Given the description of an element on the screen output the (x, y) to click on. 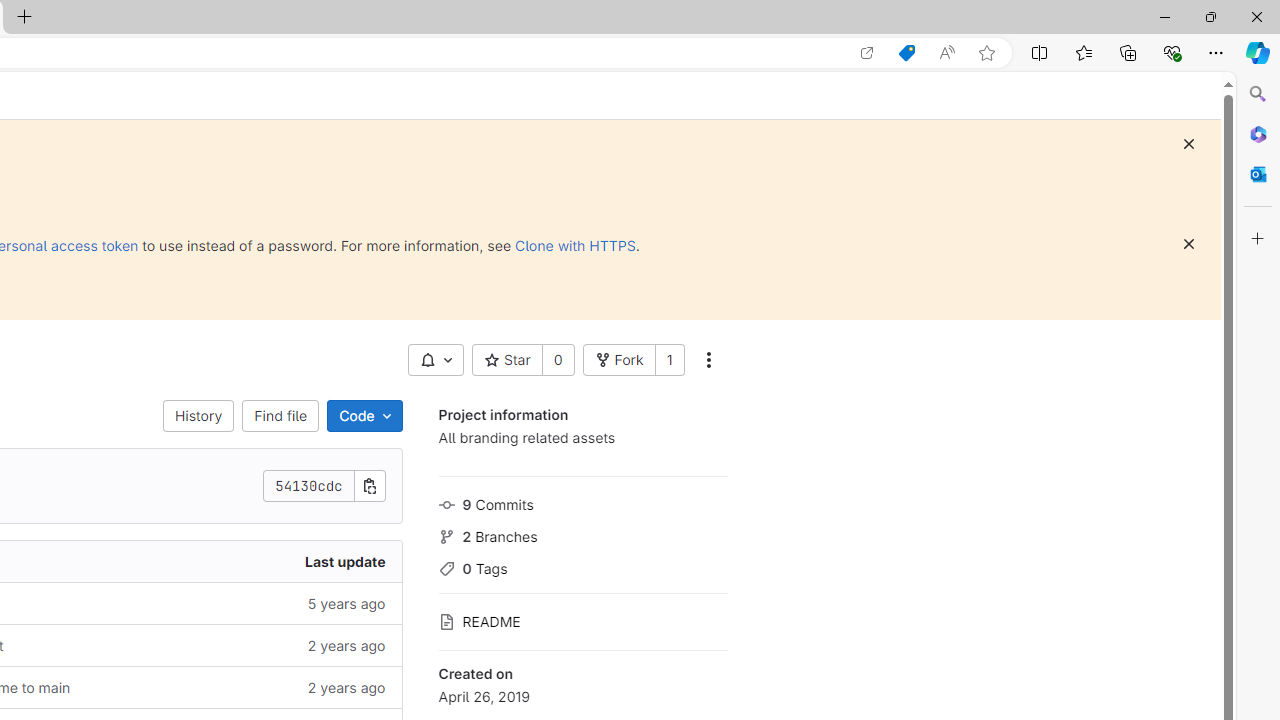
Last update (247, 561)
AutomationID: __BVID__301__BV_toggle_ (435, 359)
2 Branches (582, 534)
 Star (506, 359)
Copy commit SHA (369, 485)
Find file (280, 416)
Clone with HTTPS (575, 245)
Dismiss (1188, 243)
9 Commits (582, 502)
